Given the description of an element on the screen output the (x, y) to click on. 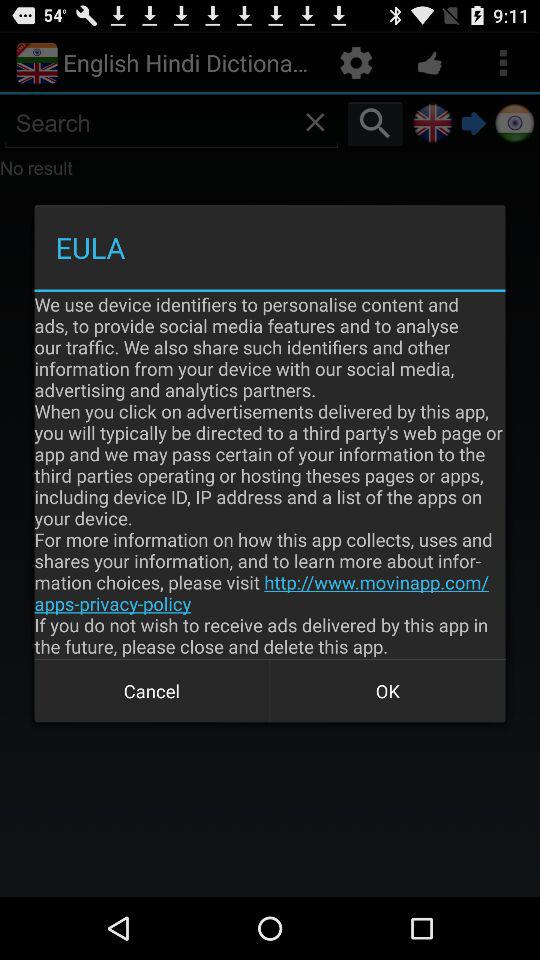
turn off we use device icon (269, 475)
